Given the description of an element on the screen output the (x, y) to click on. 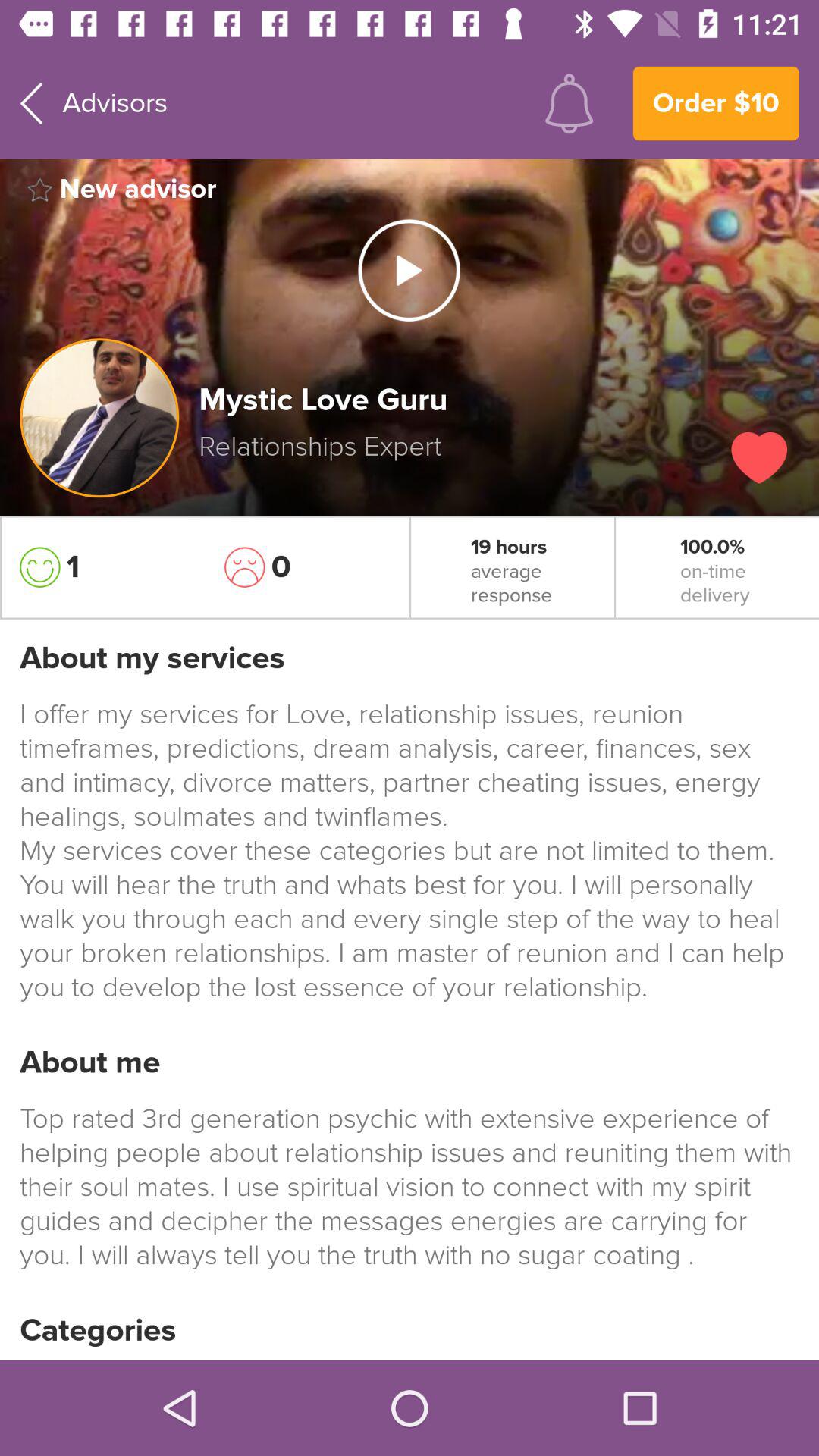
press the item next to order $10 (569, 103)
